Given the description of an element on the screen output the (x, y) to click on. 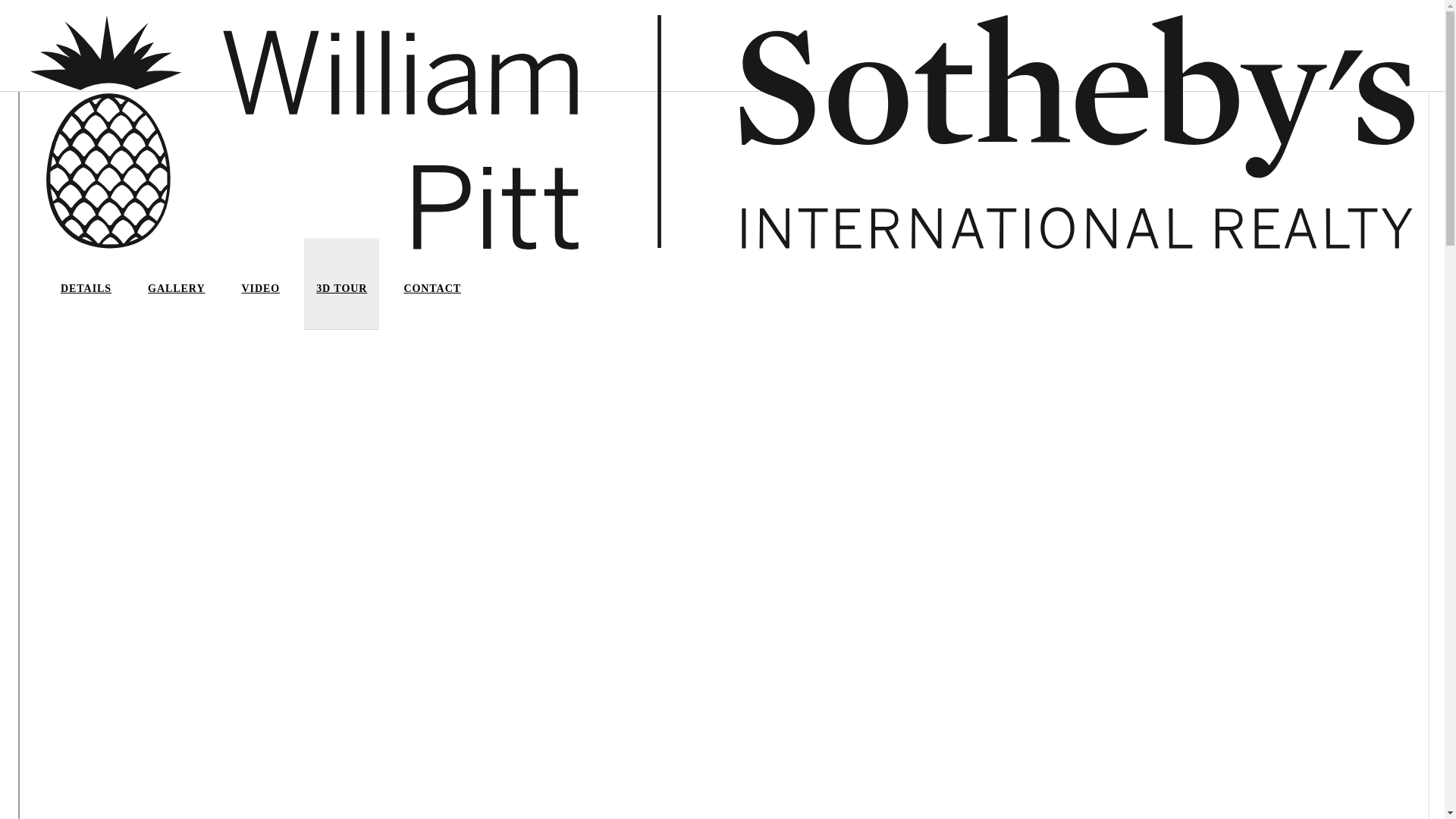
William Pitt SIR Element type: hover (722, 132)
3D TOUR Element type: text (341, 297)
GALLERY Element type: text (175, 297)
DETAILS Element type: text (85, 297)
CONTACT Element type: text (432, 297)
VIDEO Element type: text (260, 297)
